Given the description of an element on the screen output the (x, y) to click on. 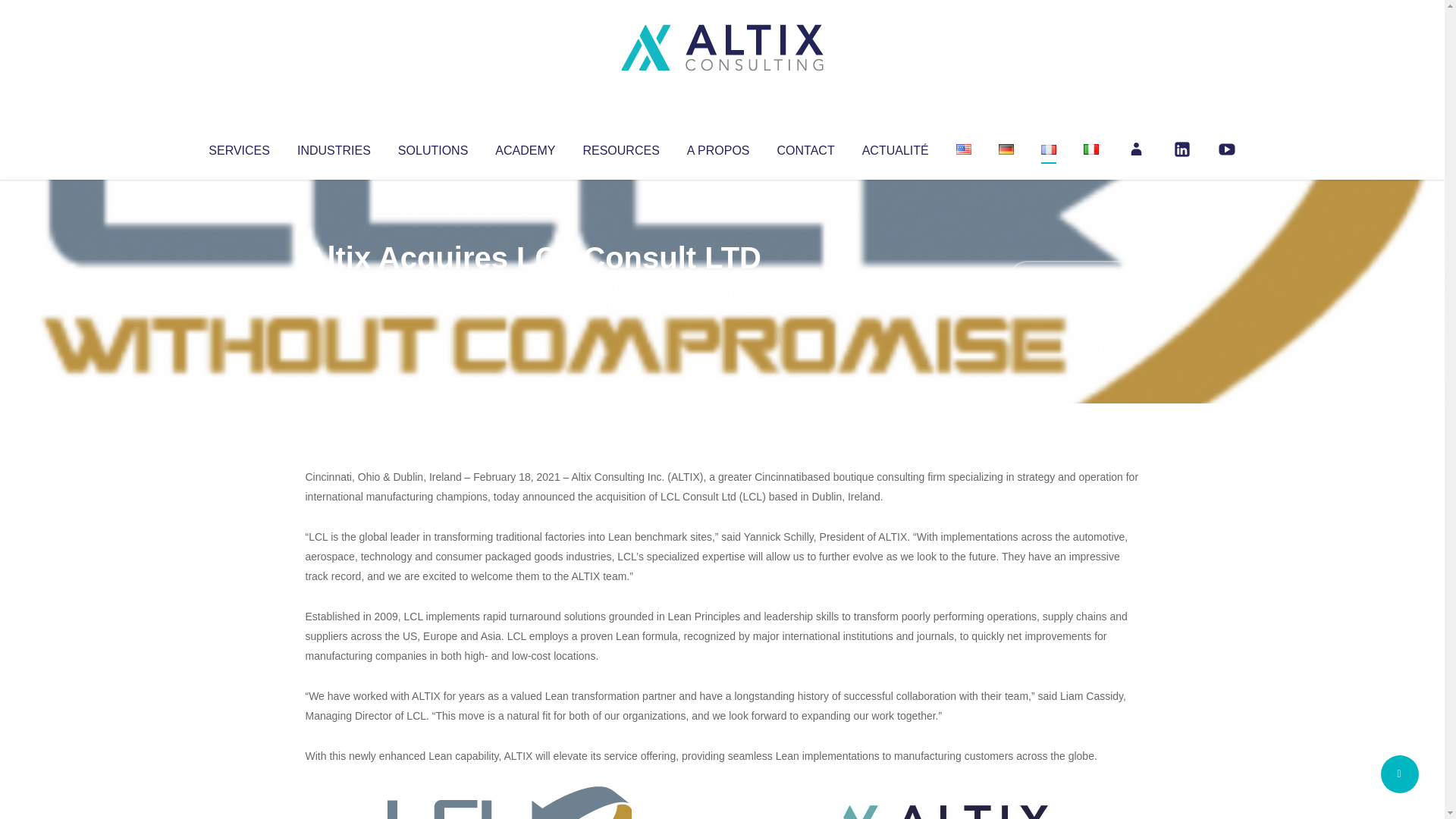
A PROPOS (718, 146)
Altix (333, 287)
Uncategorized (530, 287)
ACADEMY (524, 146)
INDUSTRIES (334, 146)
Articles par Altix (333, 287)
SERVICES (238, 146)
No Comments (1073, 278)
RESOURCES (620, 146)
SOLUTIONS (432, 146)
